Given the description of an element on the screen output the (x, y) to click on. 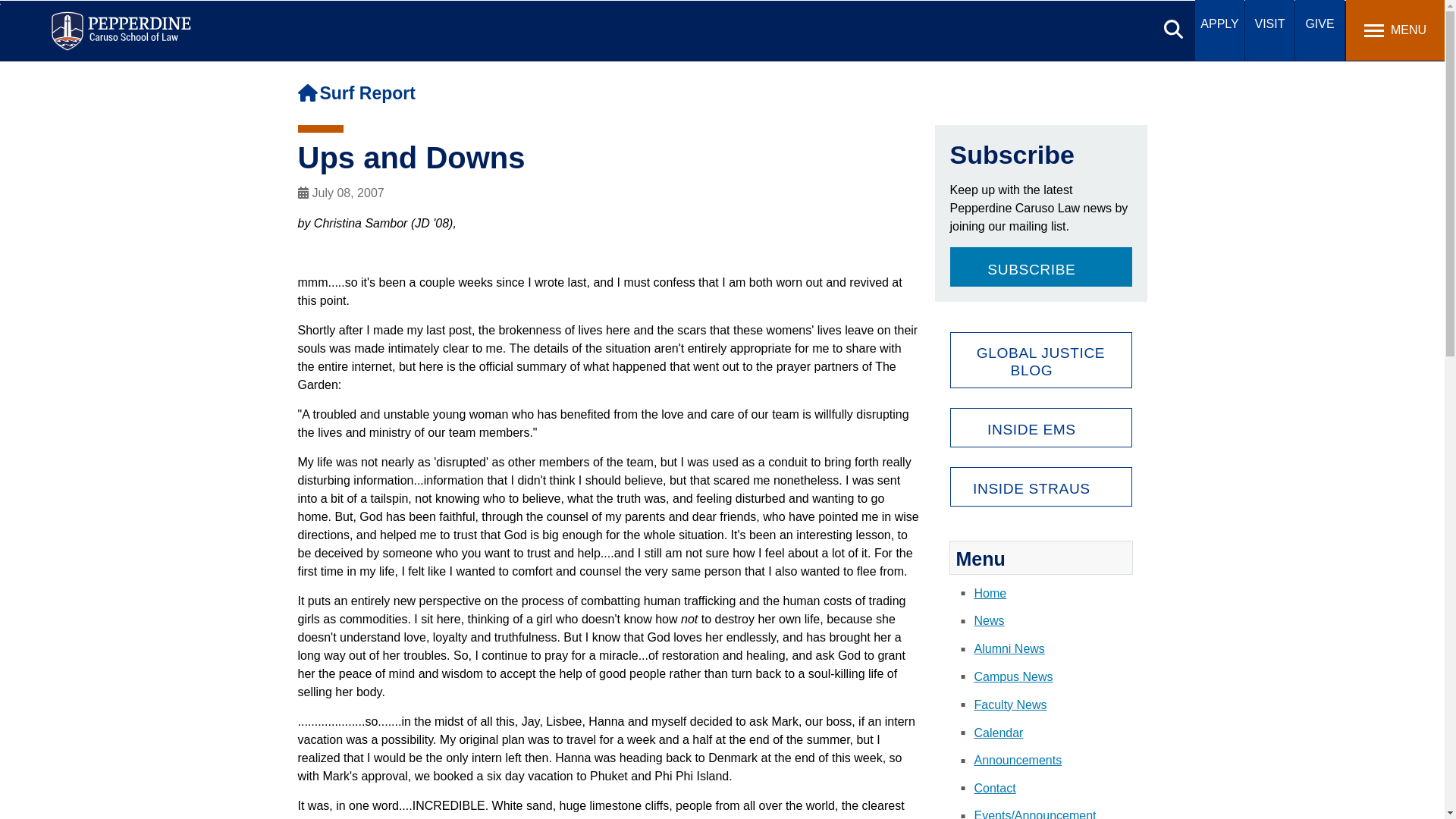
home (307, 92)
open search (1173, 28)
Submit (457, 19)
